Given the description of an element on the screen output the (x, y) to click on. 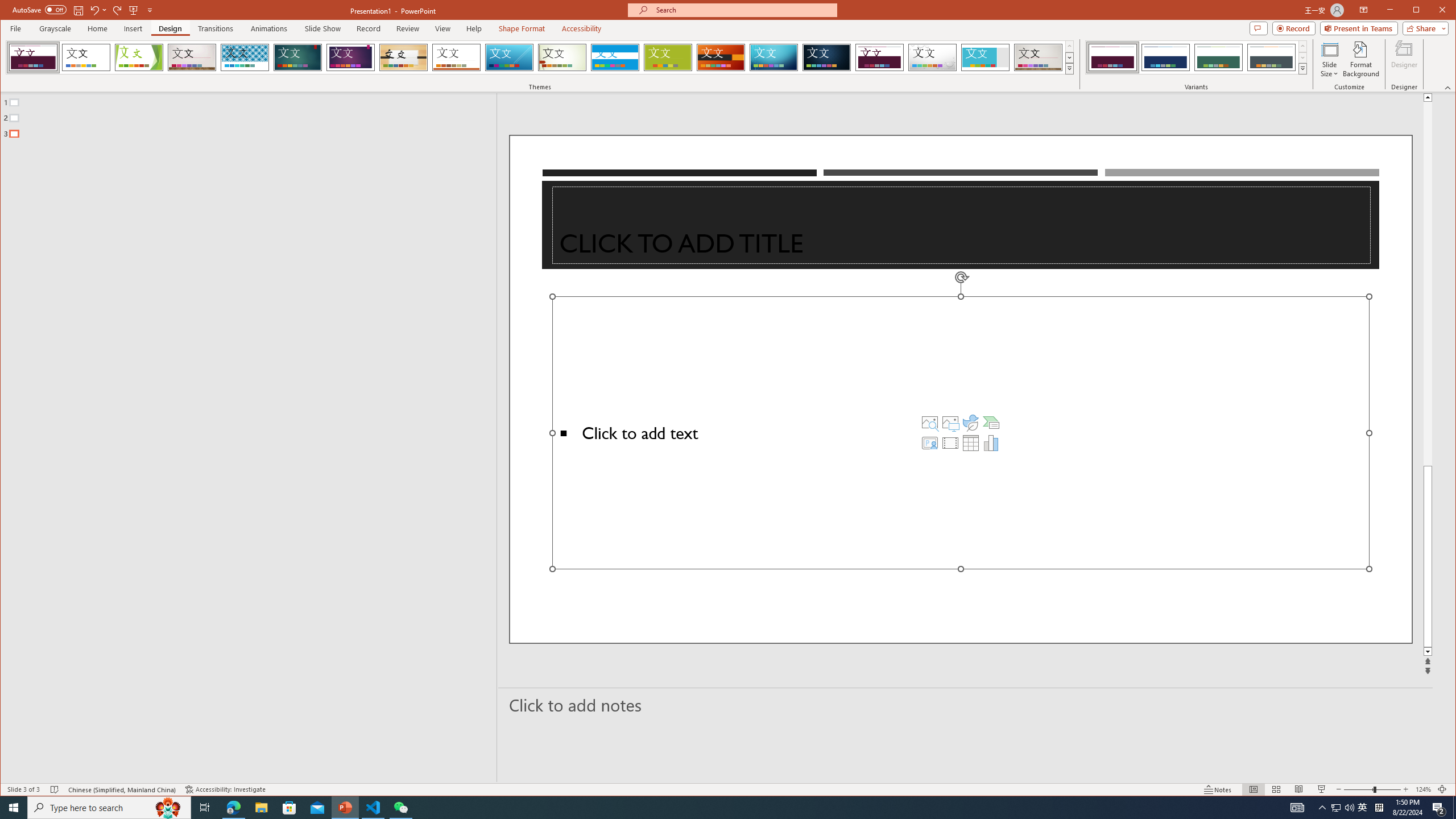
Frame (985, 57)
Basis (668, 57)
